Given the description of an element on the screen output the (x, y) to click on. 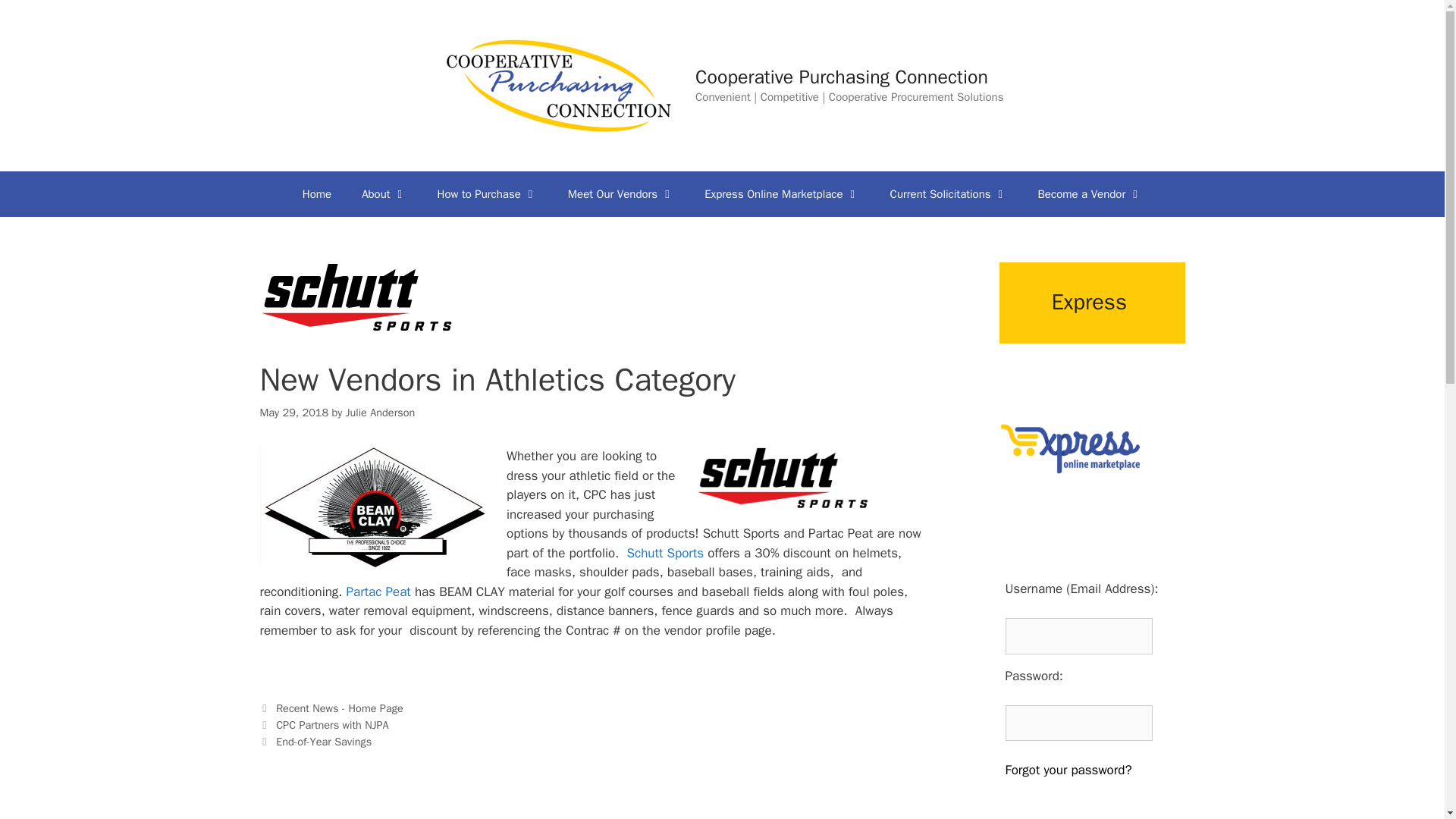
Become a Vendor (1090, 194)
Express Online Marketplace (781, 194)
View all posts by Julie Anderson (380, 412)
Current Solicitations (949, 194)
Schutt Sports (665, 553)
Home (316, 194)
How to Purchase (487, 194)
Meet Our Vendors (620, 194)
About (384, 194)
Cooperative Purchasing Connection (841, 76)
